Given the description of an element on the screen output the (x, y) to click on. 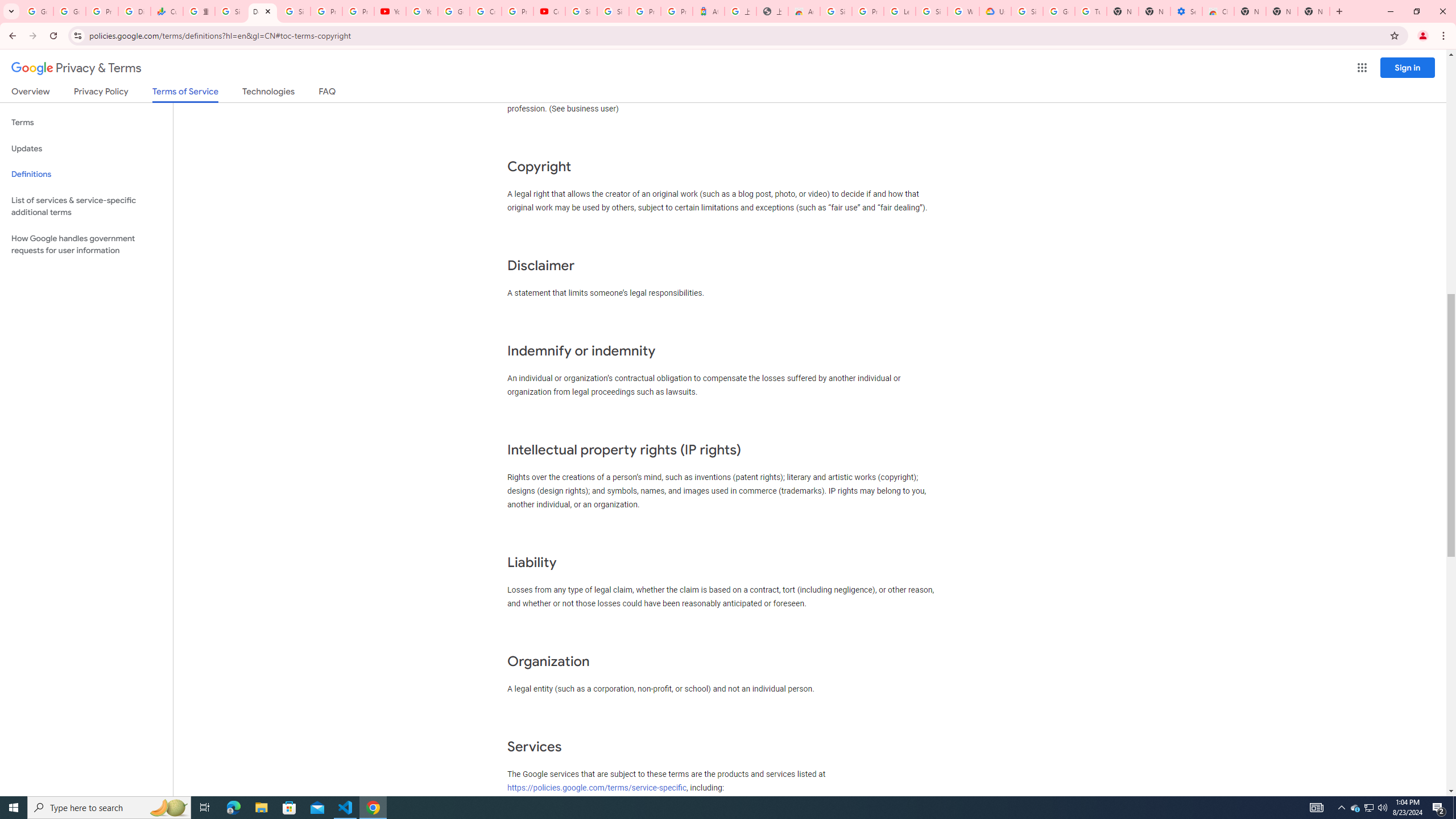
Chrome Web Store - Accessibility extensions (1217, 11)
Create your Google Account (485, 11)
Atour Hotel - Google hotels (708, 11)
YouTube (389, 11)
How Google handles government requests for user information (86, 244)
https://policies.google.com/terms/service-specific (596, 787)
Awesome Screen Recorder & Screenshot - Chrome Web Store (804, 11)
